Given the description of an element on the screen output the (x, y) to click on. 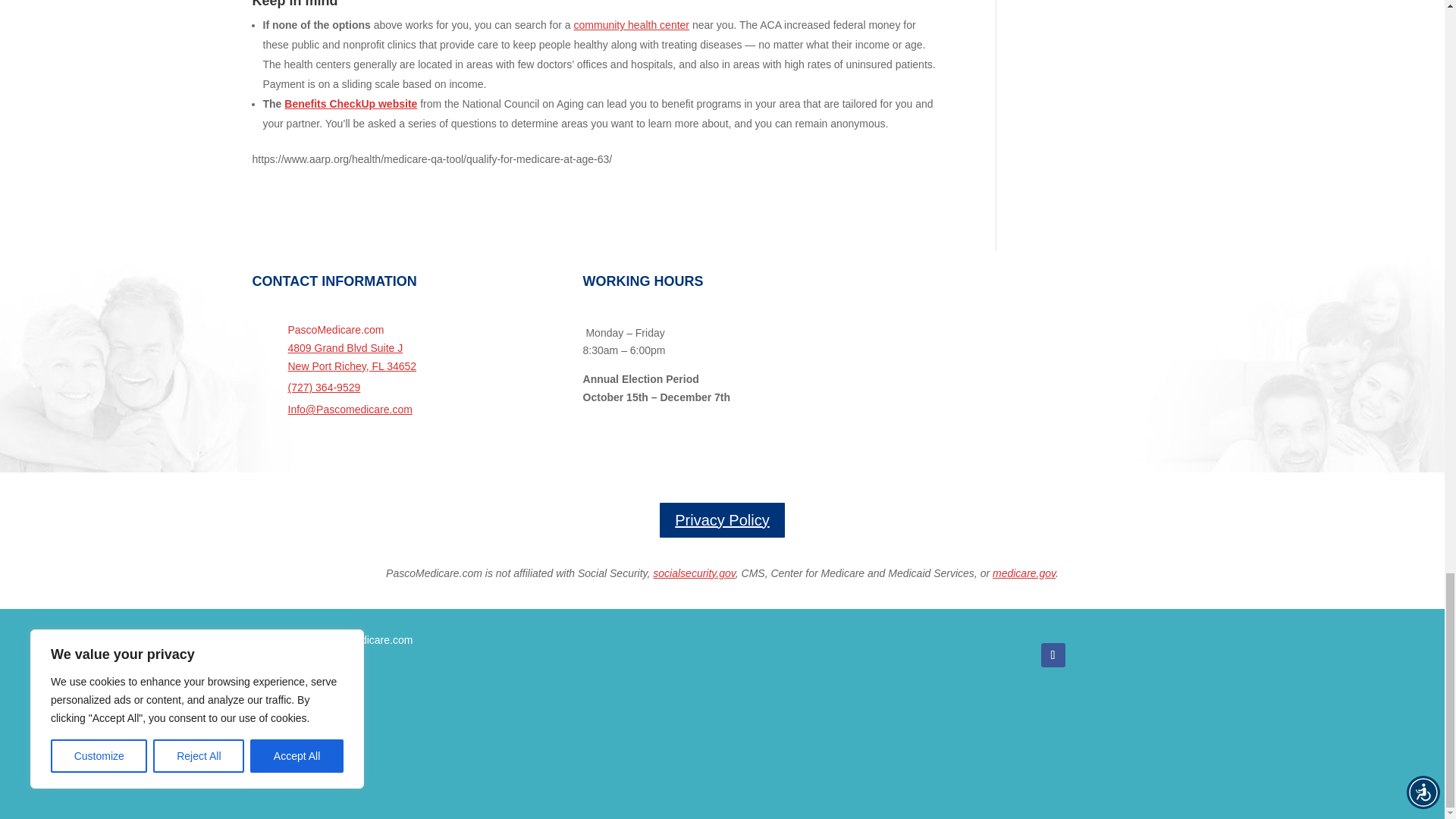
Benefits Checkup (349, 103)
find a health center (631, 24)
